Given the description of an element on the screen output the (x, y) to click on. 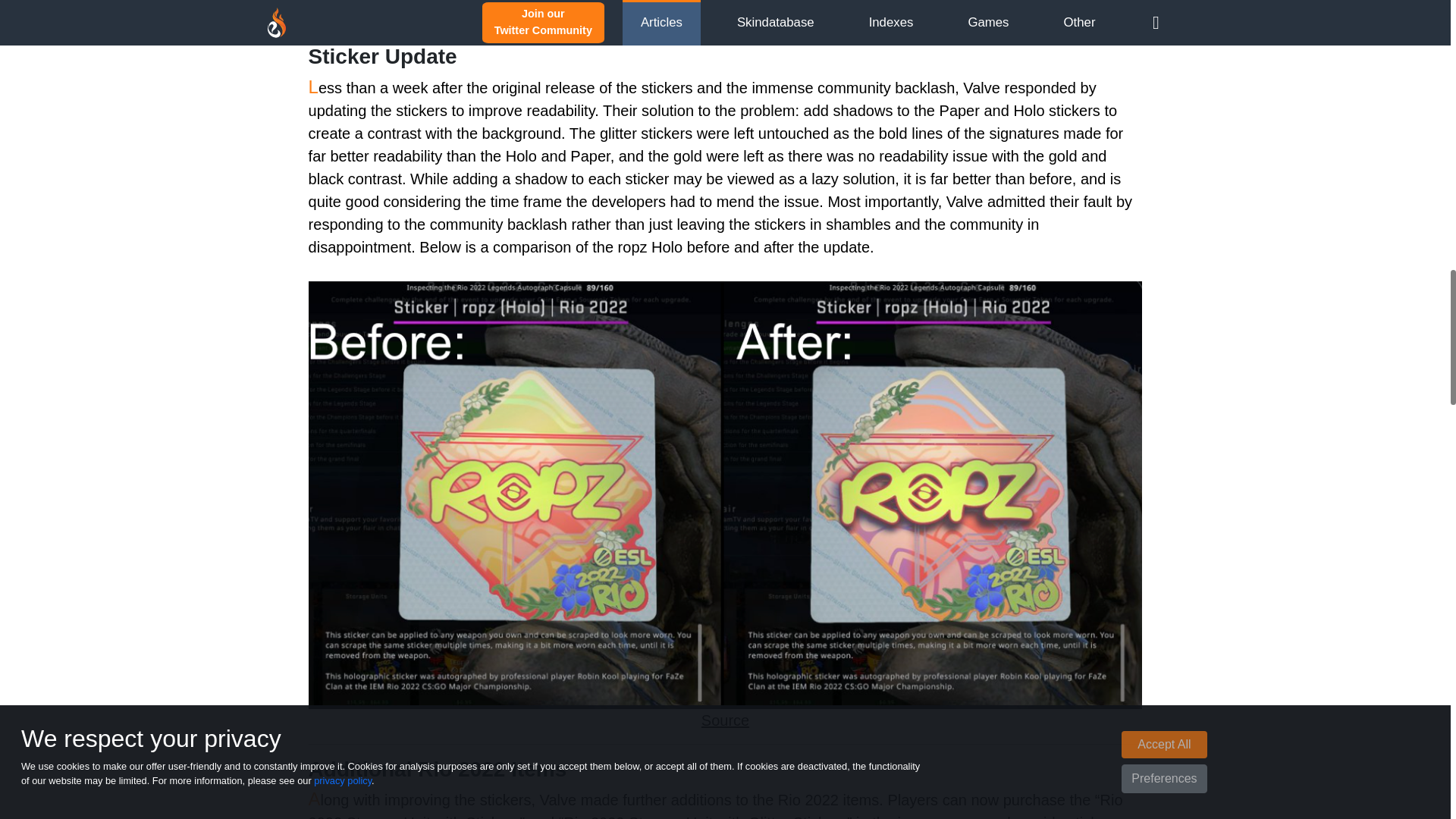
Source (725, 719)
